Given the description of an element on the screen output the (x, y) to click on. 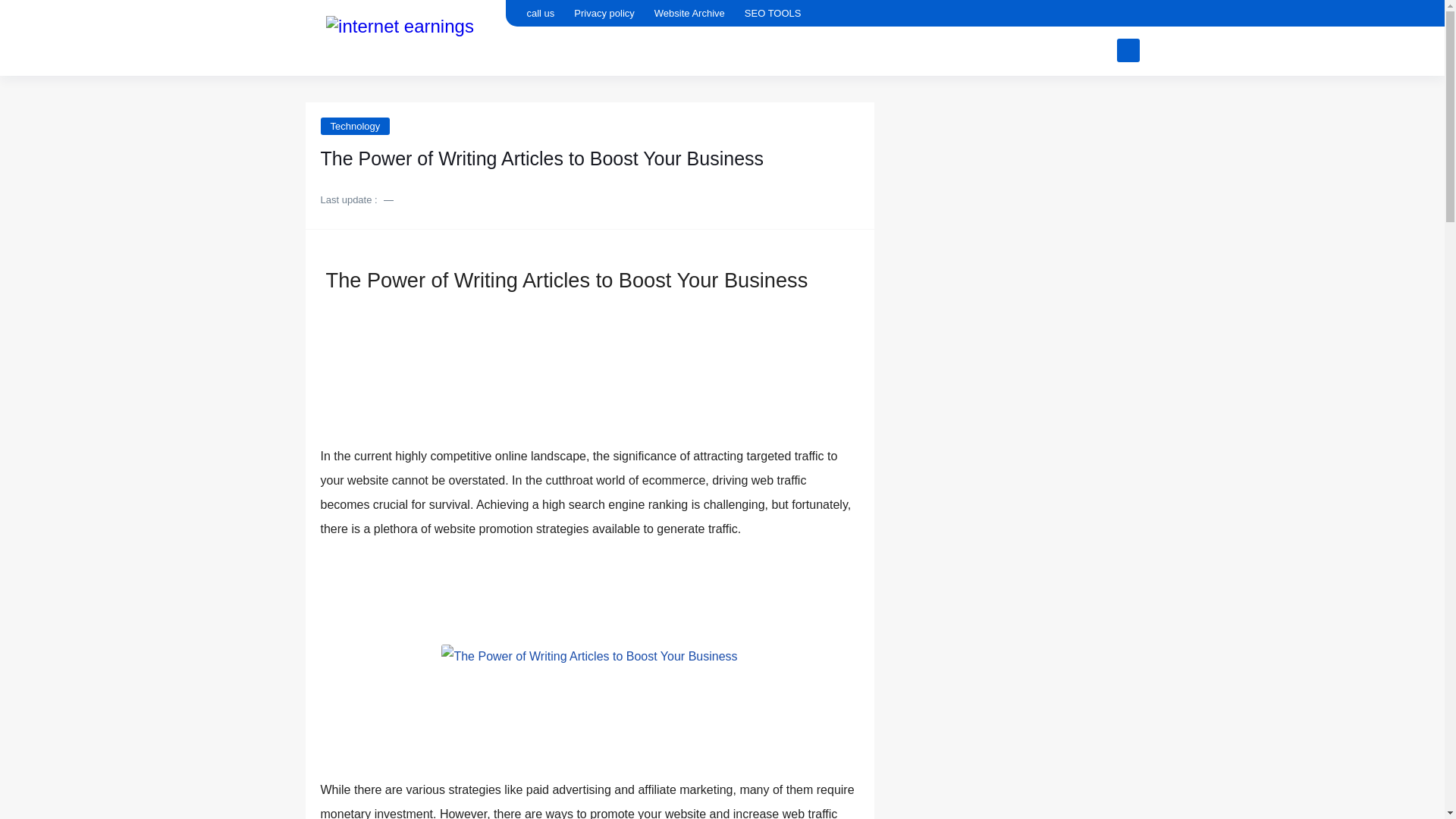
call us (539, 12)
Privacy policy (603, 12)
internet earnings (400, 36)
SEO TOOLS (773, 12)
Technology (355, 126)
Technology (355, 126)
Website Archive (688, 12)
